Given the description of an element on the screen output the (x, y) to click on. 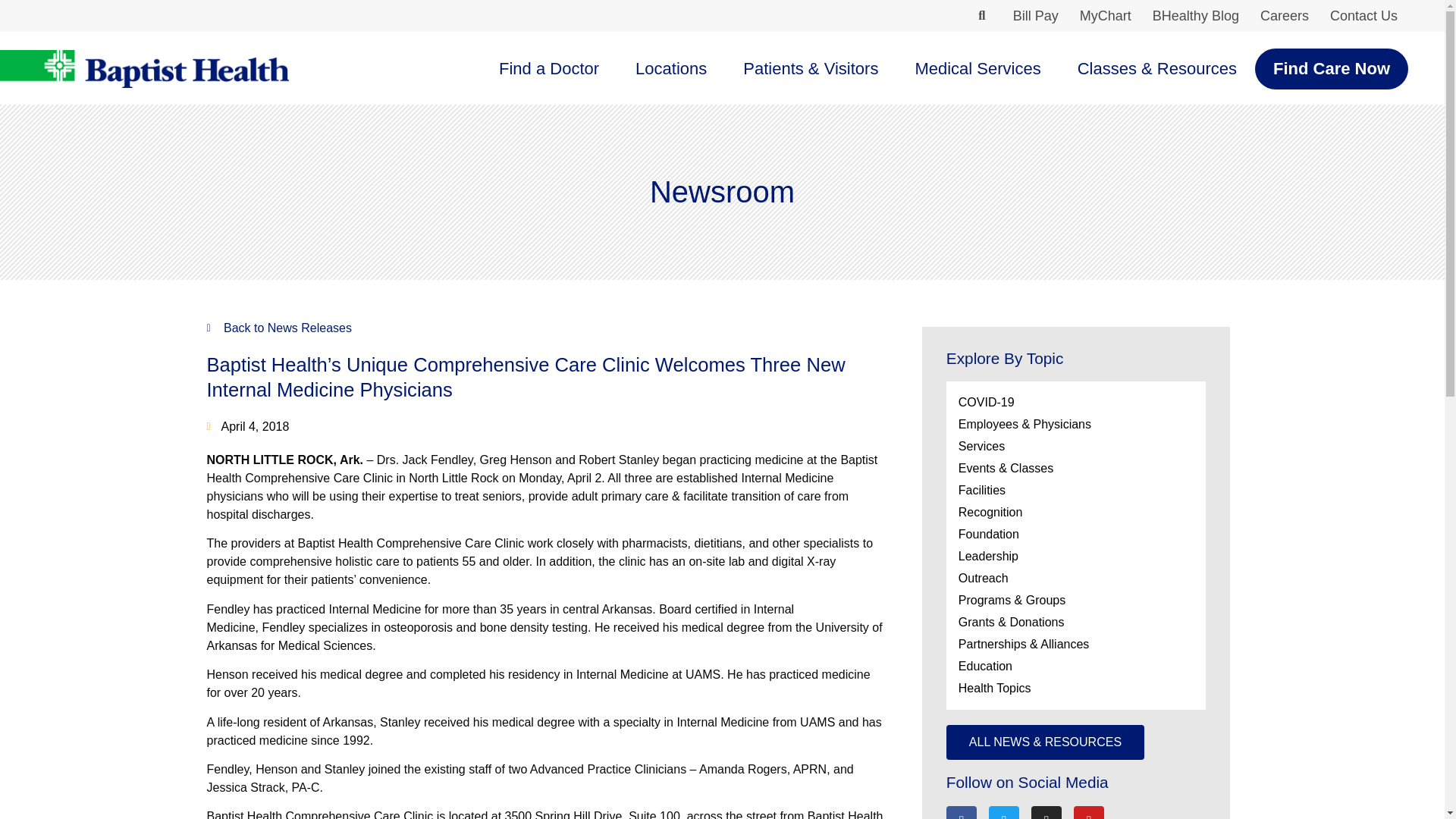
Locations (671, 68)
Find Care Now (1331, 68)
Find a Doctor (548, 68)
Careers (1284, 15)
MyChart (1104, 15)
Medical Services (977, 68)
Bill Pay (1035, 15)
Contact Us (1363, 15)
BHealthy Blog (1195, 15)
